Given the description of an element on the screen output the (x, y) to click on. 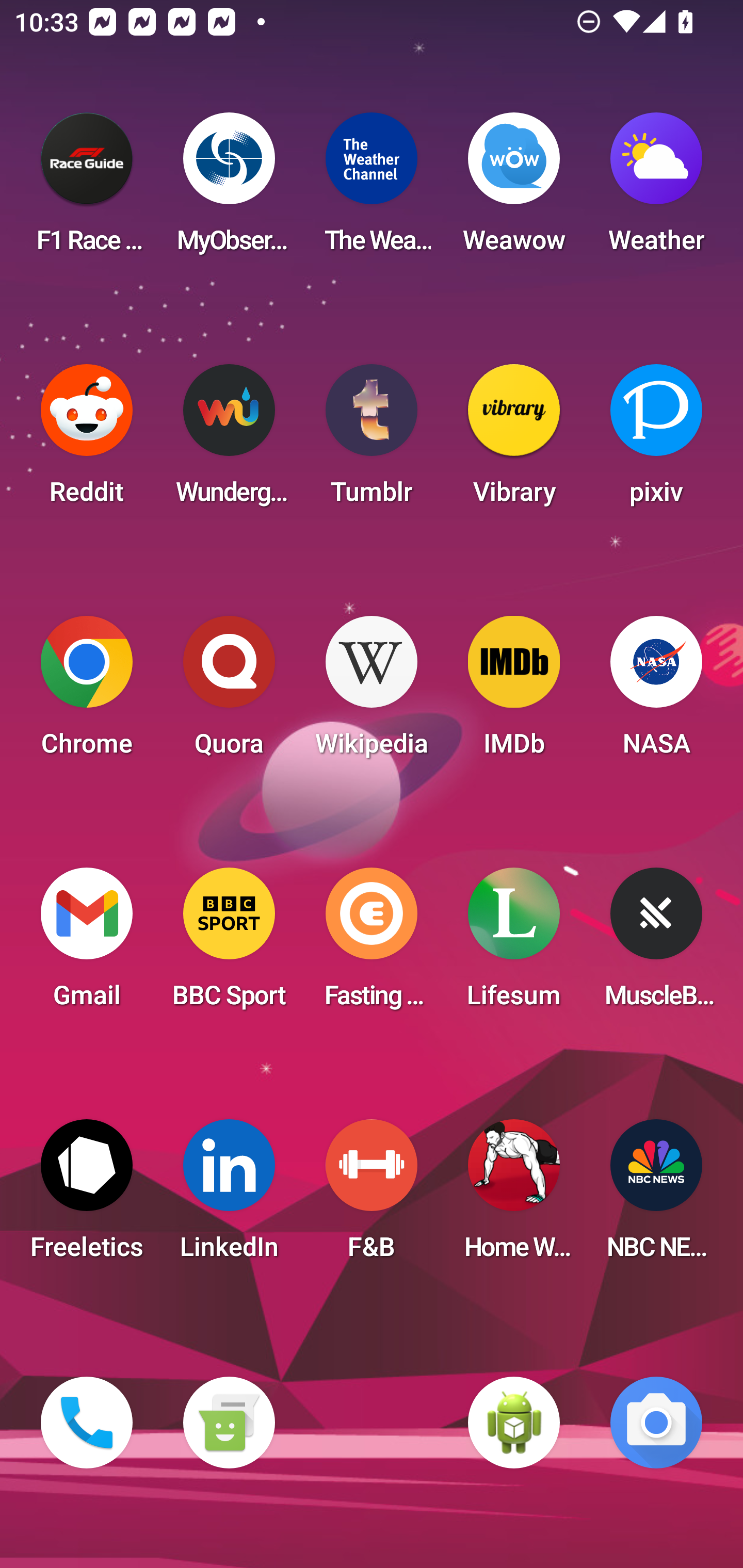
F1 Race Guide (86, 188)
MyObservatory (228, 188)
The Weather Channel (371, 188)
Weawow (513, 188)
Weather (656, 188)
Reddit (86, 440)
Wunderground (228, 440)
Tumblr (371, 440)
Vibrary (513, 440)
pixiv (656, 440)
Chrome (86, 692)
Quora (228, 692)
Wikipedia (371, 692)
IMDb (513, 692)
NASA (656, 692)
Gmail (86, 943)
BBC Sport (228, 943)
Fasting Coach (371, 943)
Lifesum (513, 943)
MuscleBooster (656, 943)
Freeletics (86, 1195)
LinkedIn (228, 1195)
F&B (371, 1195)
Home Workout (513, 1195)
NBC NEWS (656, 1195)
Phone (86, 1422)
Messaging (228, 1422)
WebView Browser Tester (513, 1422)
Camera (656, 1422)
